Given the description of an element on the screen output the (x, y) to click on. 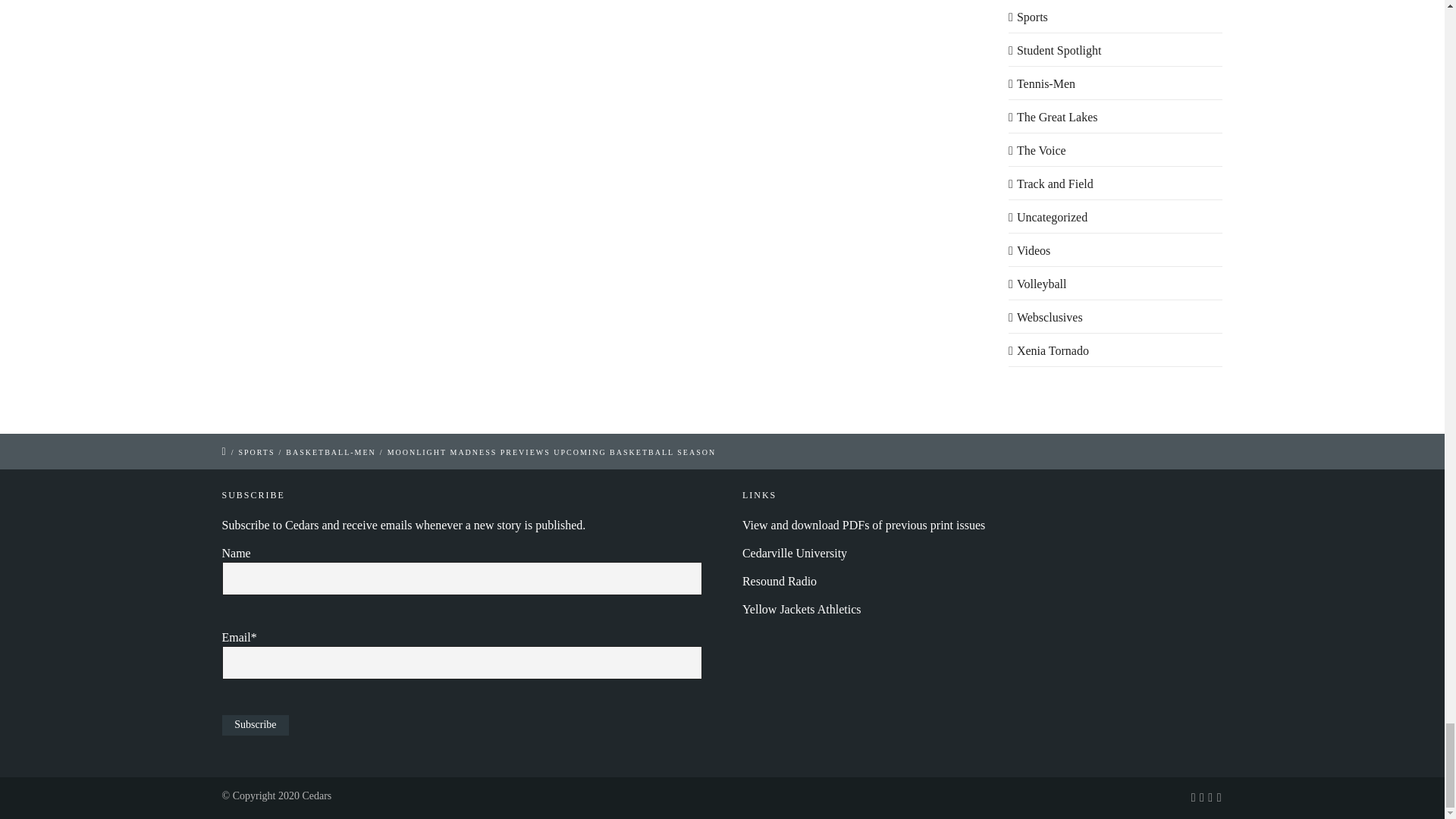
Yellow Jackets Athletics (801, 608)
Previous issues (863, 524)
Subscribe (254, 724)
Resound Radio (779, 581)
Cedarville University (794, 553)
